Given the description of an element on the screen output the (x, y) to click on. 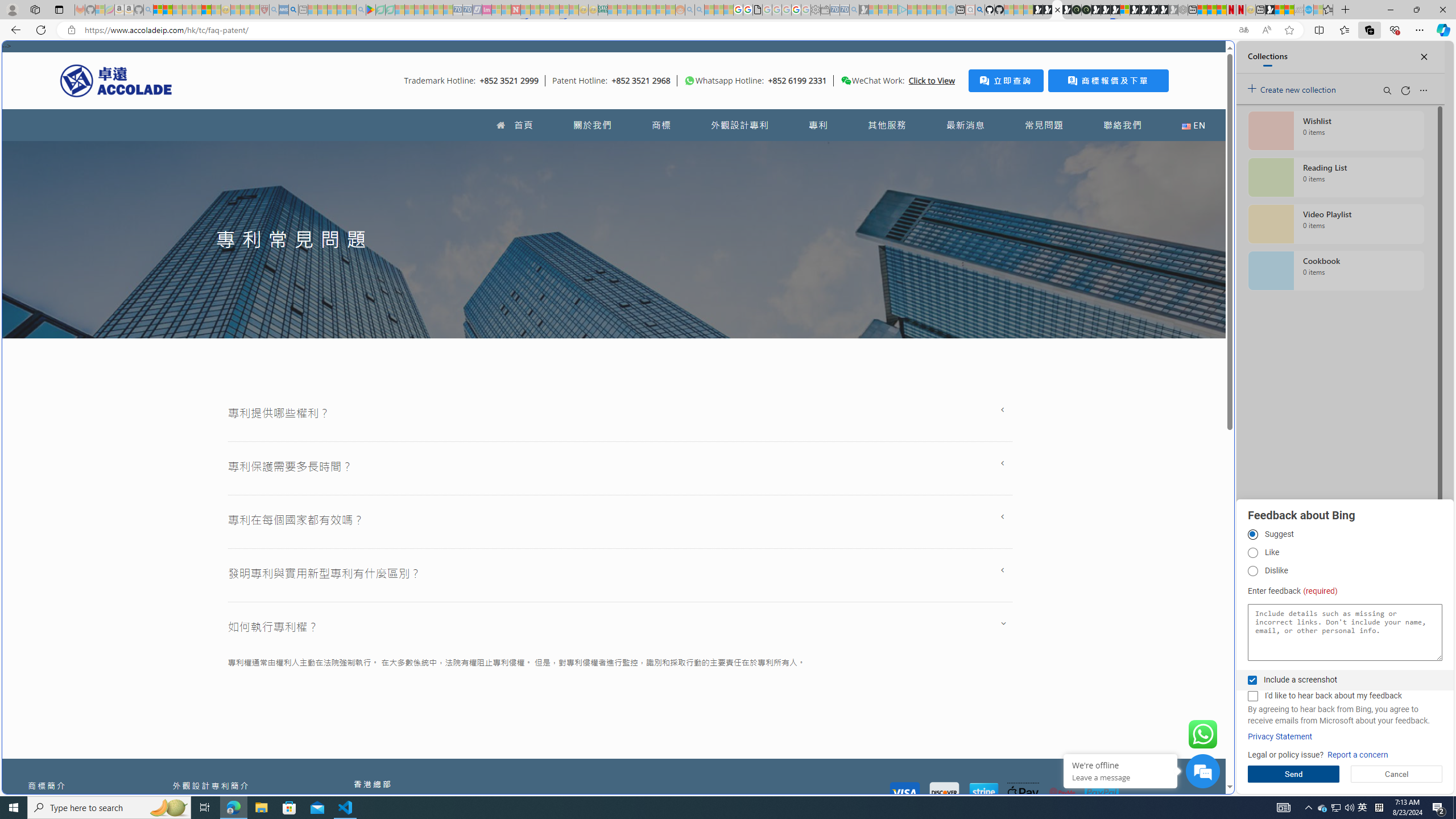
EN (1193, 124)
Frequently visited (965, 151)
